Given the description of an element on the screen output the (x, y) to click on. 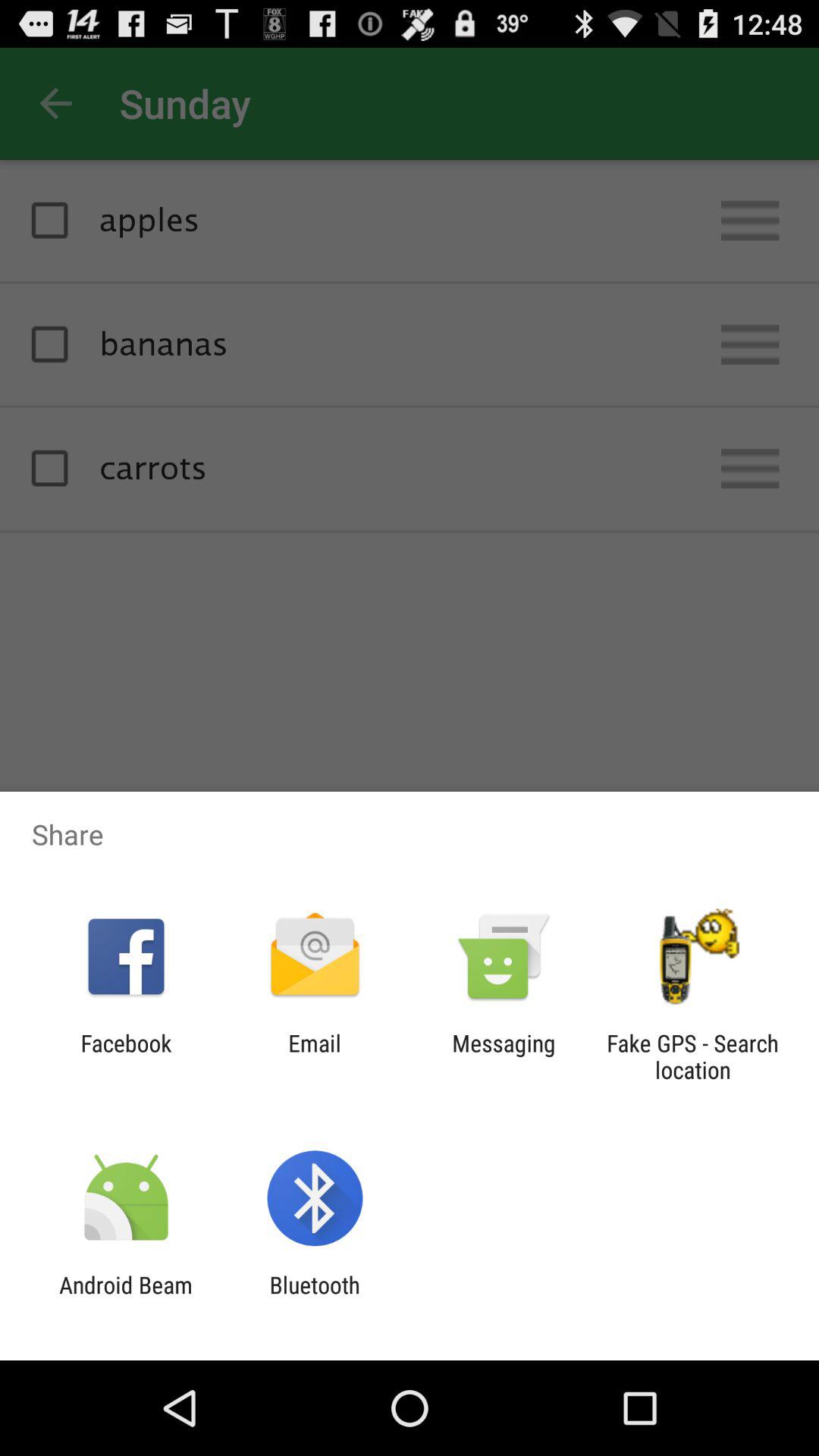
open app next to bluetooth item (125, 1298)
